Given the description of an element on the screen output the (x, y) to click on. 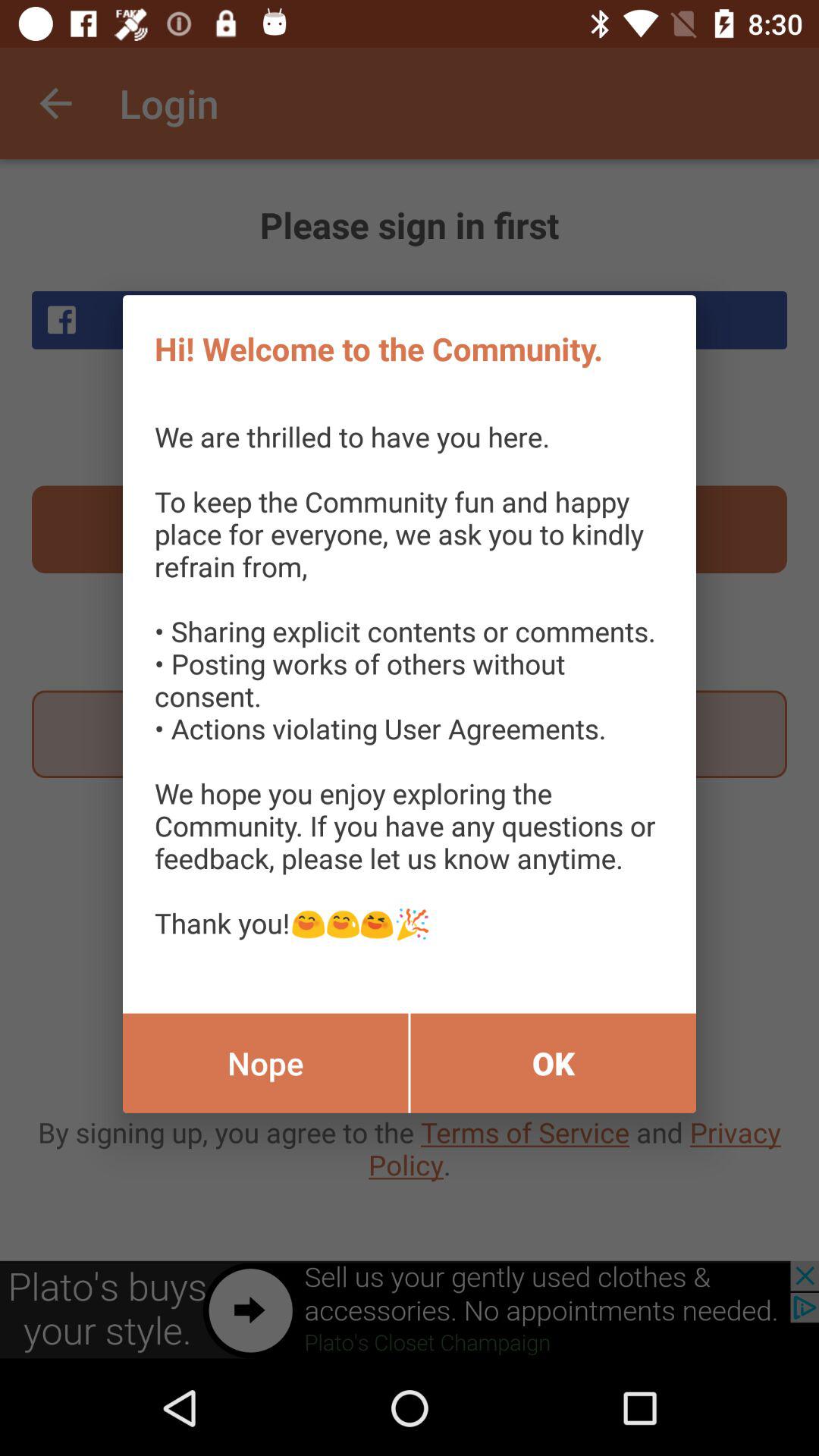
tap the item below the we are thrilled icon (553, 1063)
